Given the description of an element on the screen output the (x, y) to click on. 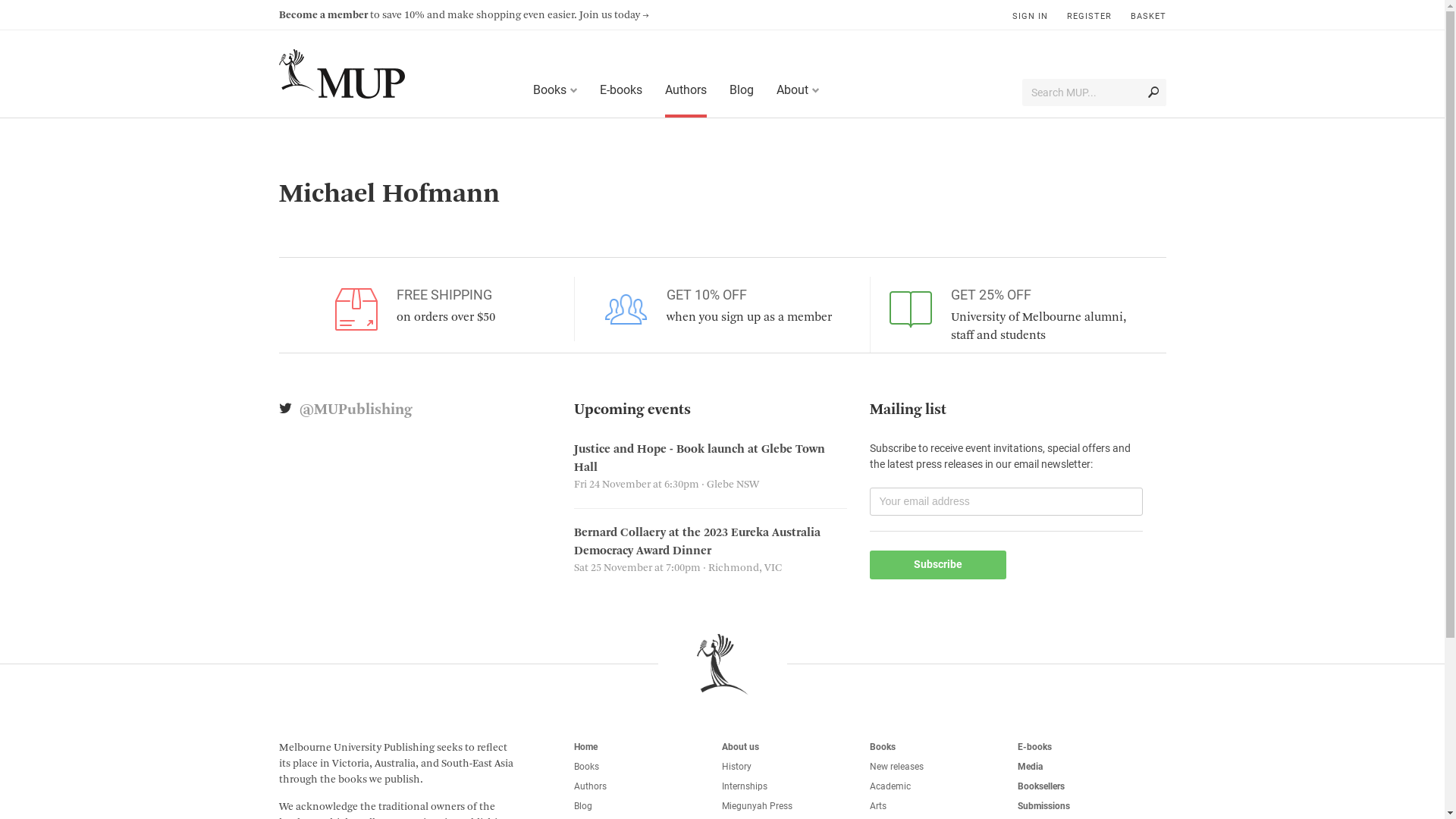
Authors Element type: text (590, 786)
Internships Element type: text (744, 786)
Booksellers Element type: text (1040, 786)
Home Element type: text (585, 746)
Books Element type: text (586, 766)
About us Element type: text (740, 746)
REGISTER Element type: text (1088, 12)
Books Element type: text (882, 746)
MUP Element type: text (341, 73)
Authors Element type: text (685, 91)
Subscribe Element type: text (937, 564)
Submissions Element type: text (1043, 805)
About Element type: text (792, 89)
SIGN IN Element type: text (1029, 12)
Books Element type: text (548, 89)
E-books Element type: text (1034, 746)
History Element type: text (736, 766)
@MUPublishing Element type: text (354, 409)
New releases Element type: text (896, 766)
Blog Element type: text (740, 91)
Miegunyah Press Element type: text (756, 805)
Justice and Hope - Book launch at Glebe Town Hall Element type: text (699, 458)
E-books Element type: text (620, 91)
Academic Element type: text (889, 786)
Media Element type: text (1029, 766)
Blog Element type: text (583, 805)
Arts Element type: text (877, 805)
